Given the description of an element on the screen output the (x, y) to click on. 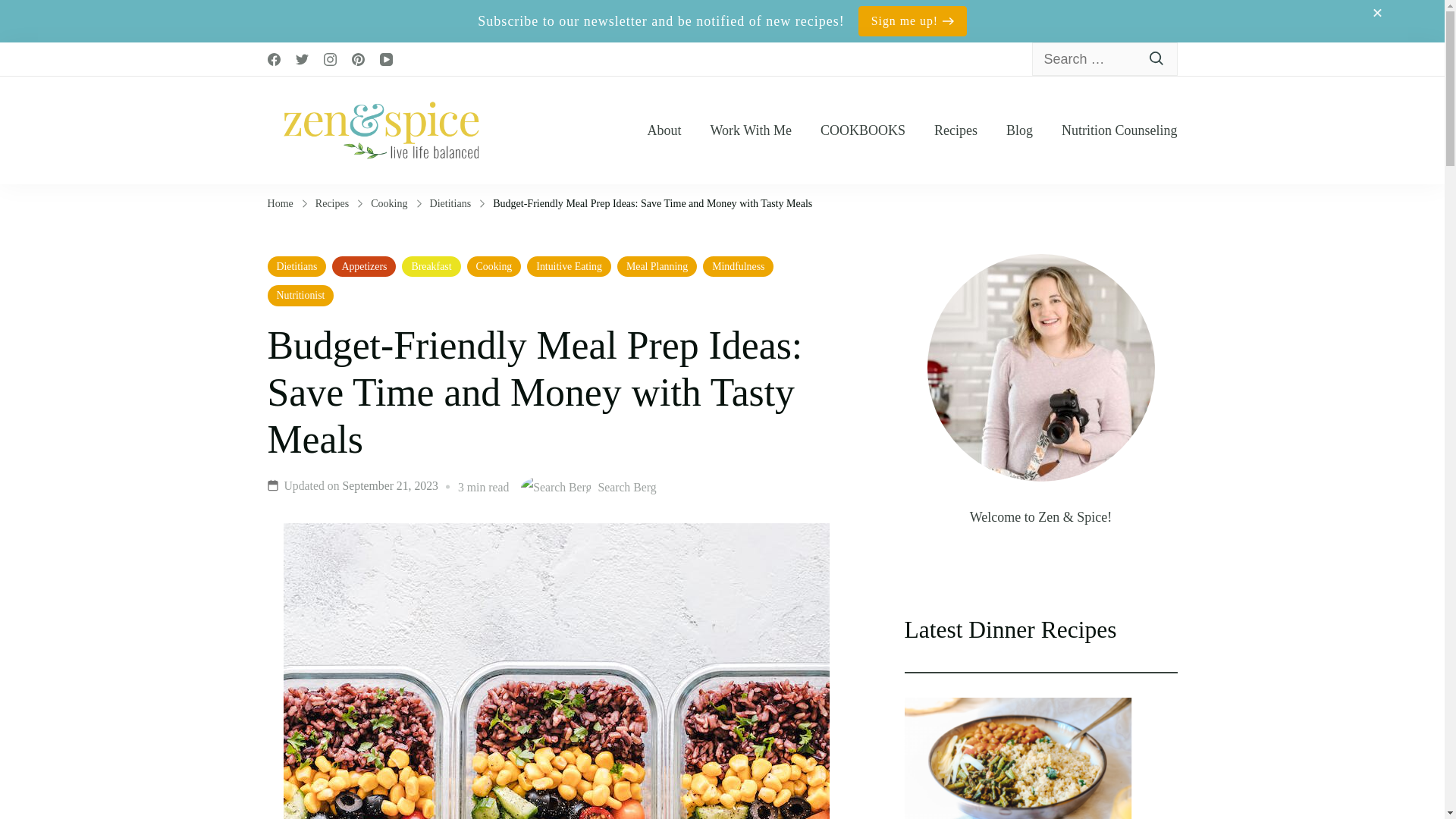
Work With Me (750, 130)
Sign me up! (912, 20)
Search (1157, 58)
About (663, 130)
Nutrition Counseling (1119, 130)
Search (1157, 58)
Search (1157, 58)
COOKBOOKS (863, 130)
Recipes (955, 130)
Blog (1019, 130)
